Given the description of an element on the screen output the (x, y) to click on. 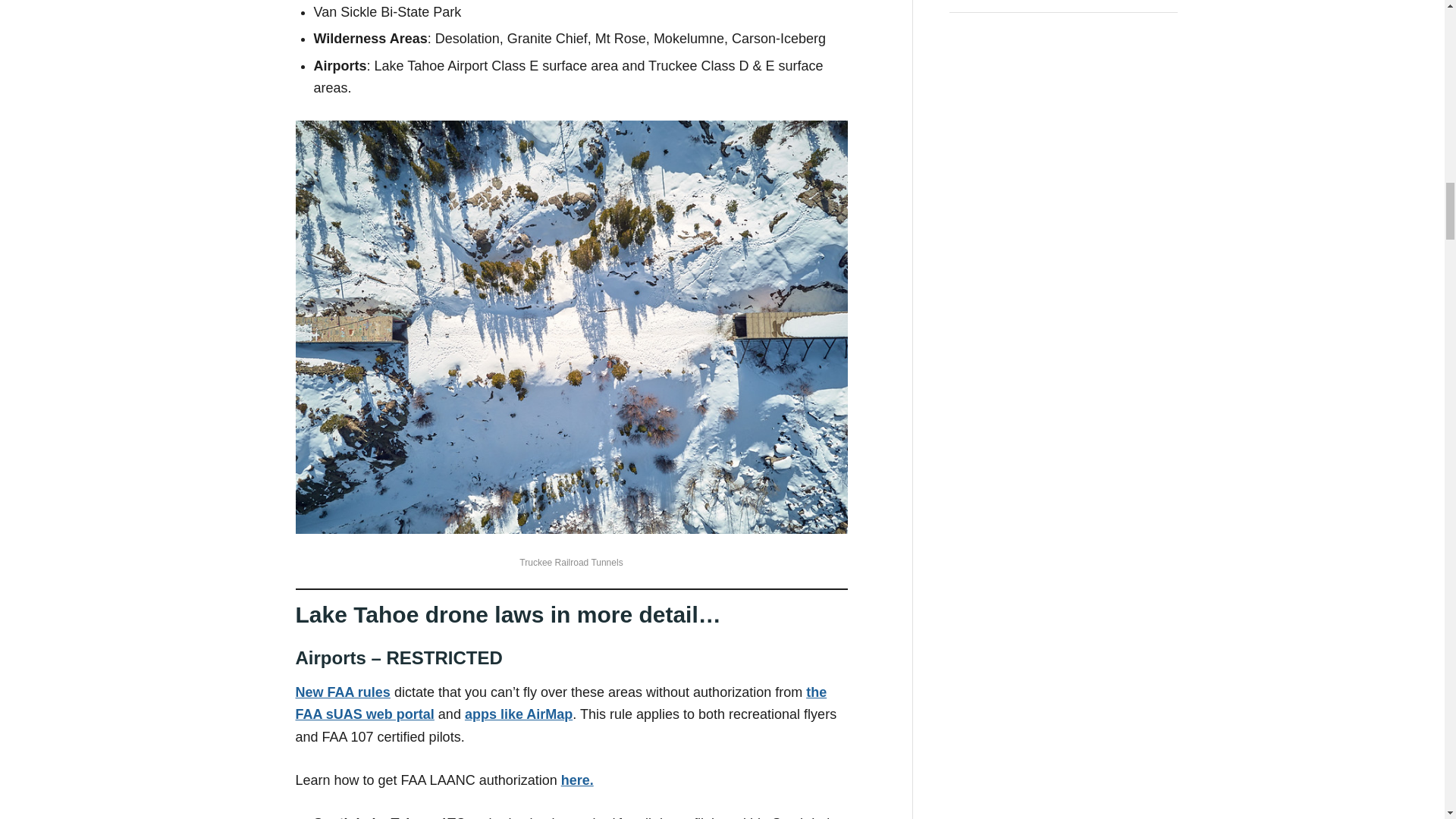
New FAA rules (342, 692)
apps like AirMap (518, 713)
here. (577, 780)
the FAA sUAS web portal (561, 702)
